Given the description of an element on the screen output the (x, y) to click on. 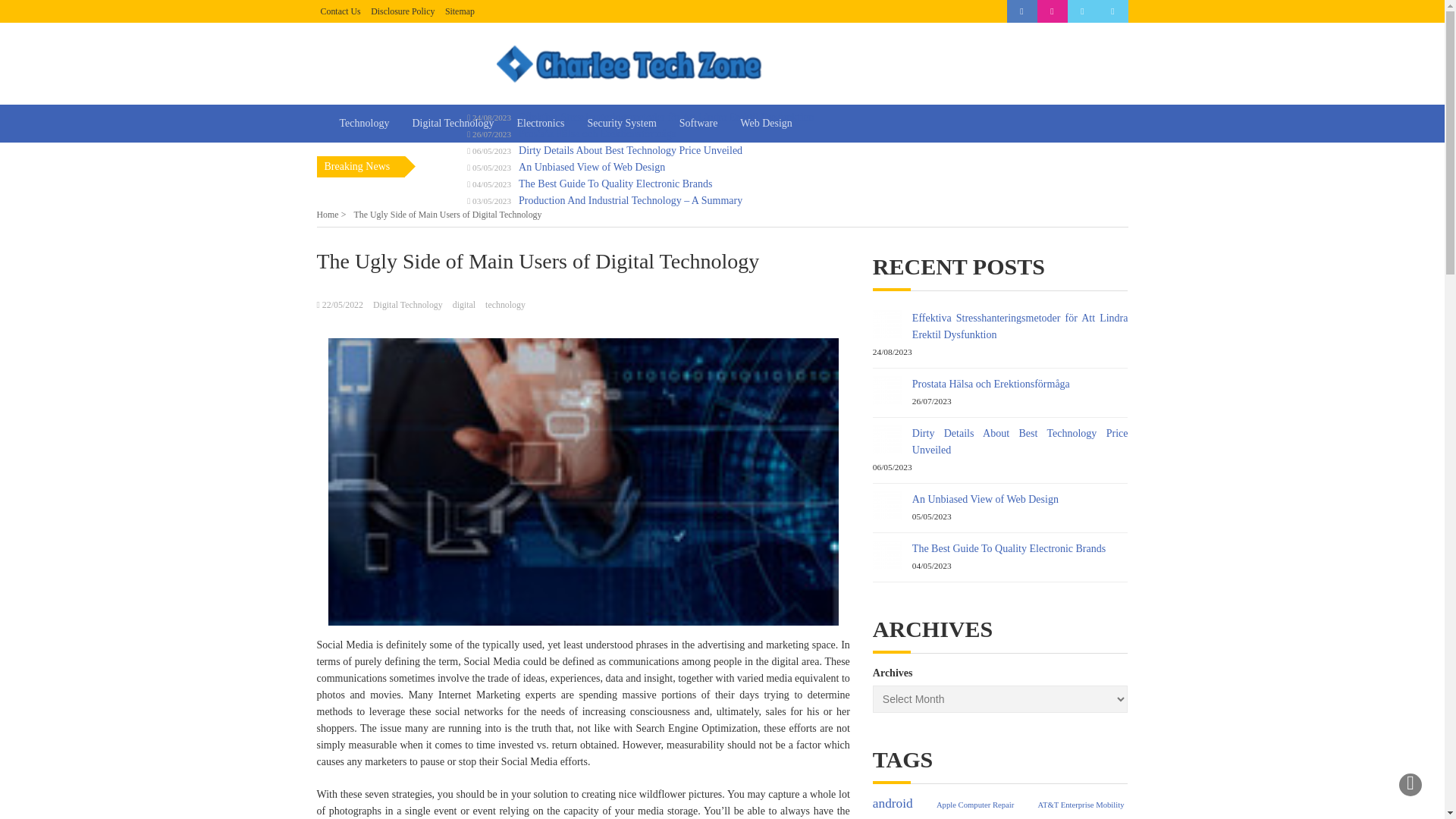
Web Design (766, 123)
An Unbiased View of Web Design (985, 499)
Sitemap (459, 10)
Electronics (540, 123)
Dirty Details About Best Technology Price Unveiled (886, 439)
android (892, 803)
Dirty Details About Best Technology Price Unveiled (1020, 441)
The Best Guide To Quality Electronic Brands (1008, 548)
Security System (620, 123)
Software (698, 123)
